Given the description of an element on the screen output the (x, y) to click on. 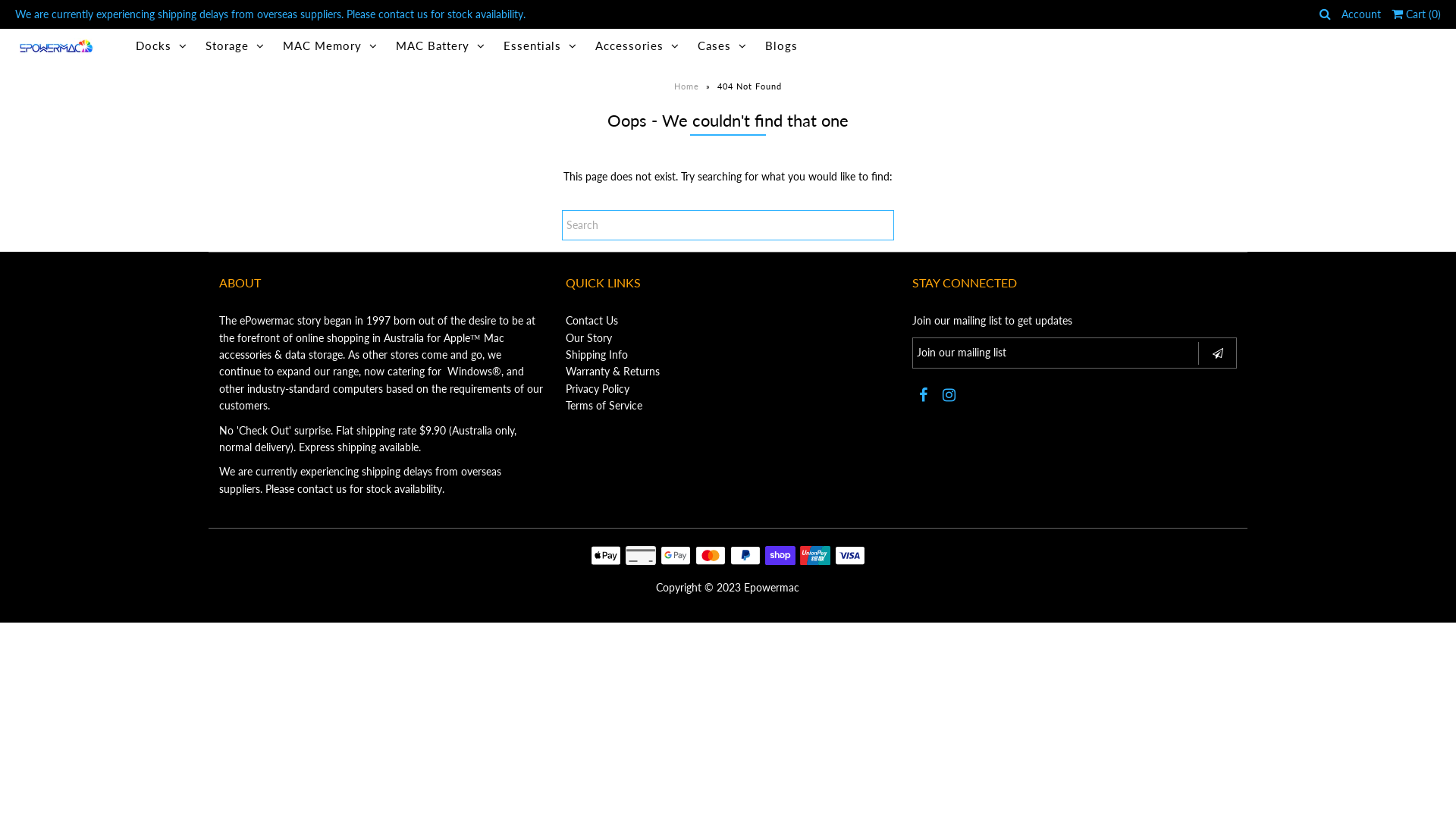
Accessories Element type: text (637, 45)
Privacy Policy Element type: text (597, 388)
Home Element type: text (688, 86)
Terms of Service Element type: text (603, 404)
Warranty & Returns Element type: text (612, 370)
Contact Us Element type: text (591, 319)
Blogs Element type: text (781, 45)
Shipping Info Element type: text (596, 354)
Our Story Element type: text (588, 337)
Cart (0) Element type: text (1415, 13)
Account Element type: text (1360, 13)
Essentials Element type: text (539, 45)
MAC Battery Element type: text (440, 45)
Storage Element type: text (234, 45)
MAC Memory Element type: text (330, 45)
Docks Element type: text (161, 45)
Cases Element type: text (722, 45)
Epowermac Element type: text (771, 586)
